Given the description of an element on the screen output the (x, y) to click on. 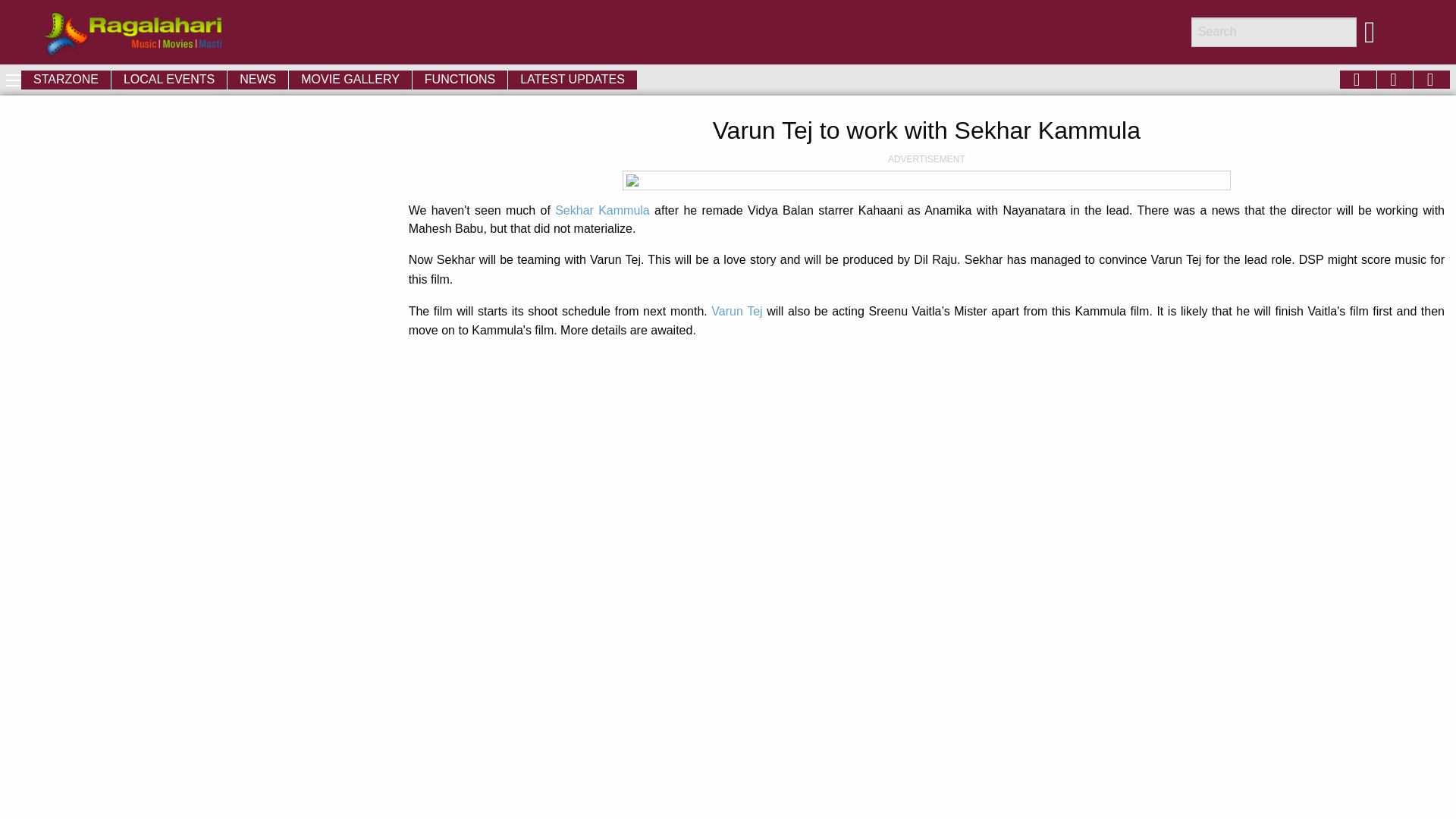
LATEST UPDATES (572, 79)
STARZONE (65, 79)
LOCAL EVENTS (169, 79)
FUNCTIONS (459, 79)
MOVIE GALLERY (350, 79)
NEWS (257, 79)
